Given the description of an element on the screen output the (x, y) to click on. 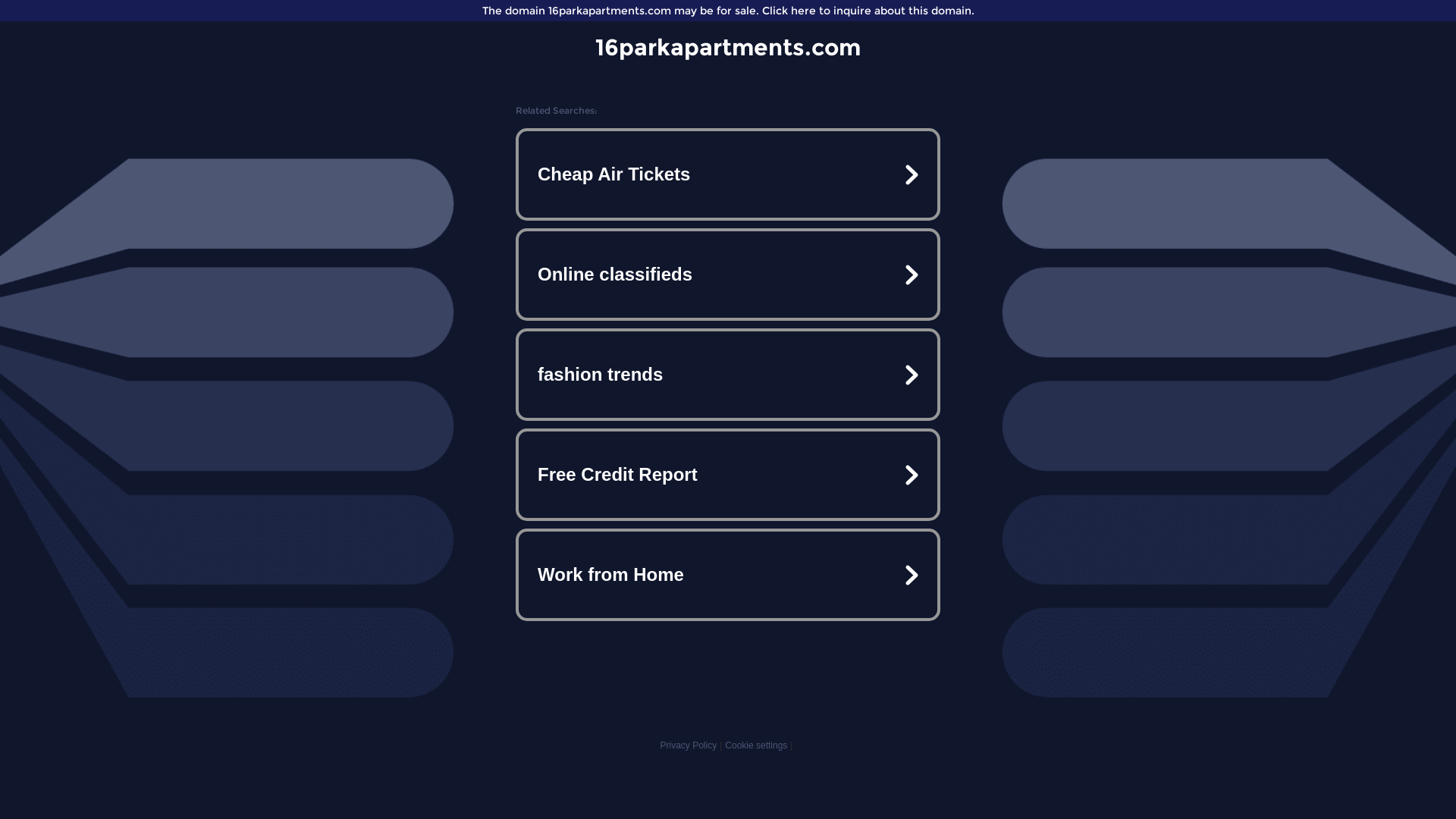
Privacy Policy Element type: text (687, 745)
Cookie settings Element type: text (755, 745)
Cheap Air Tickets Element type: text (727, 174)
16parkapartments.com Element type: text (727, 47)
fashion trends Element type: text (727, 374)
Work from Home Element type: text (727, 574)
Online classifieds Element type: text (727, 274)
Free Credit Report Element type: text (727, 474)
